Given the description of an element on the screen output the (x, y) to click on. 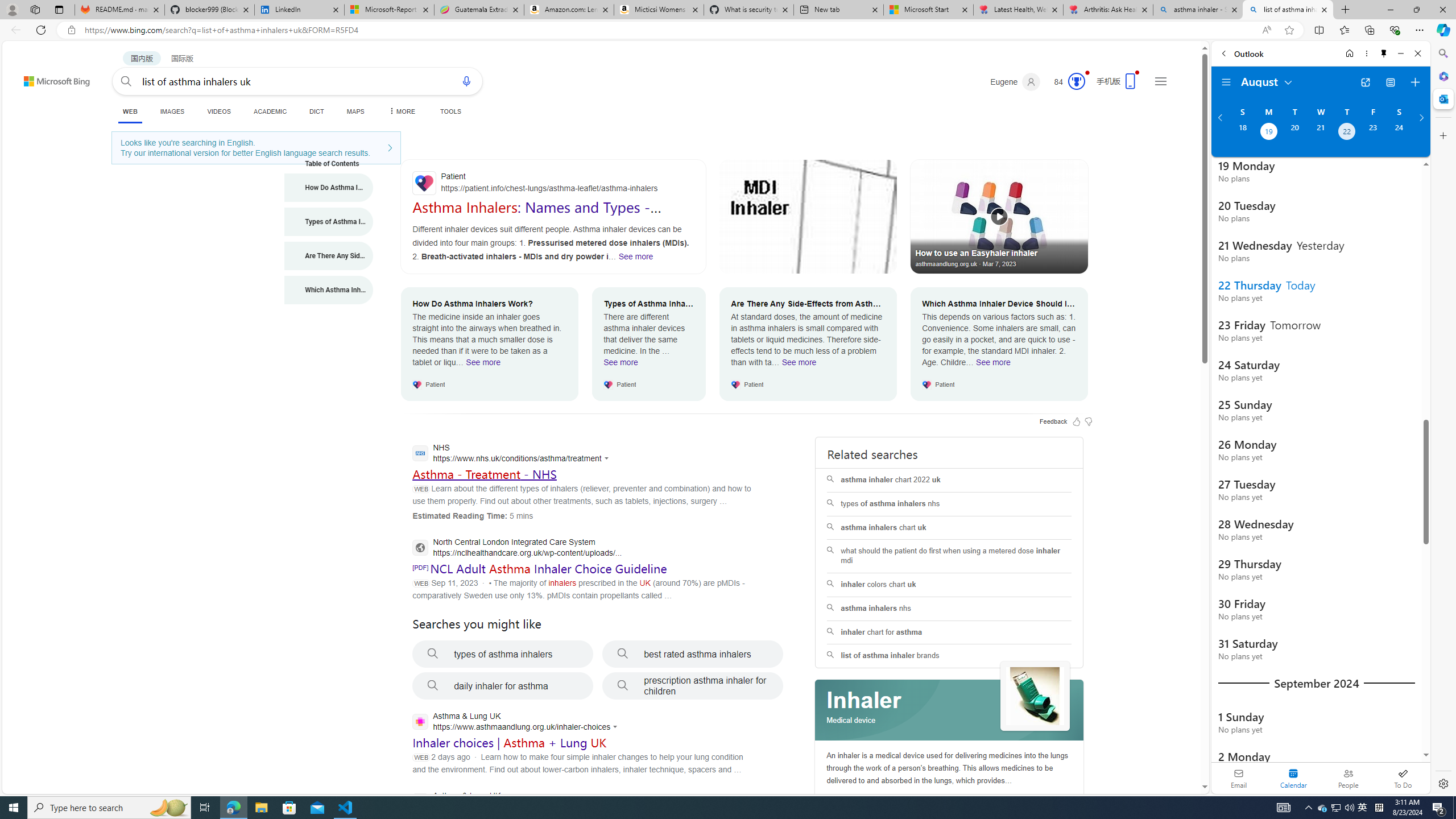
daily inhaler for asthma (503, 685)
Search more (1179, 753)
Sunday, August 18, 2024.  (1242, 132)
types of asthma inhalers (503, 653)
ACADEMIC (269, 111)
Inhaler choices | Asthma + Lung UK (509, 742)
list of asthma inhaler brands (949, 656)
Selected calendar module. Date today is 22 (1293, 777)
Create event (1414, 82)
AutomationID: serp_medal_svg (1076, 81)
